Given the description of an element on the screen output the (x, y) to click on. 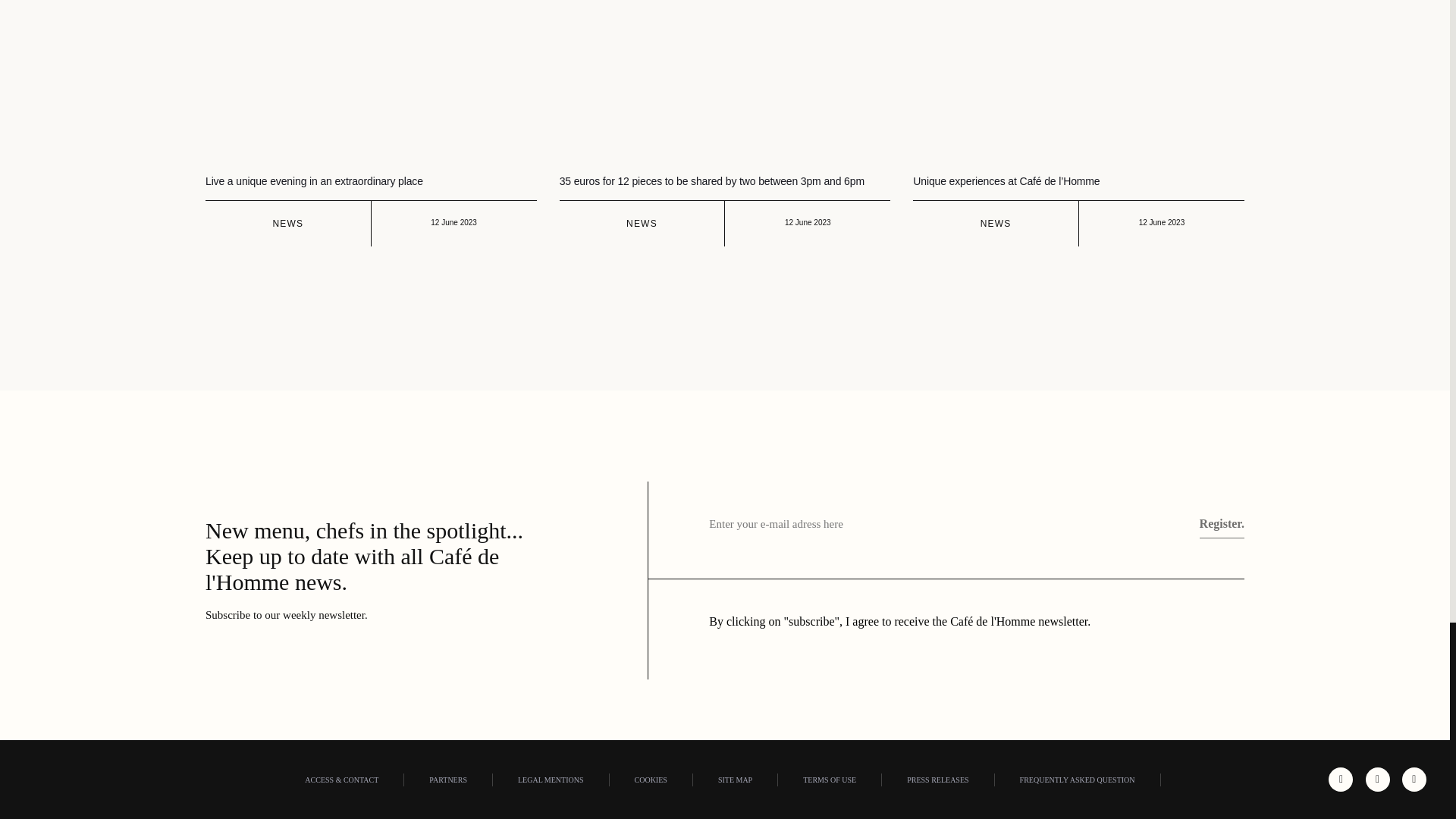
big-logo-300x163 (61, 779)
NEWS (642, 223)
12 June 2023 (807, 222)
Live a unique evening in an extraordinary place (314, 181)
12 June 2023 (453, 222)
NEWS (287, 223)
